Given the description of an element on the screen output the (x, y) to click on. 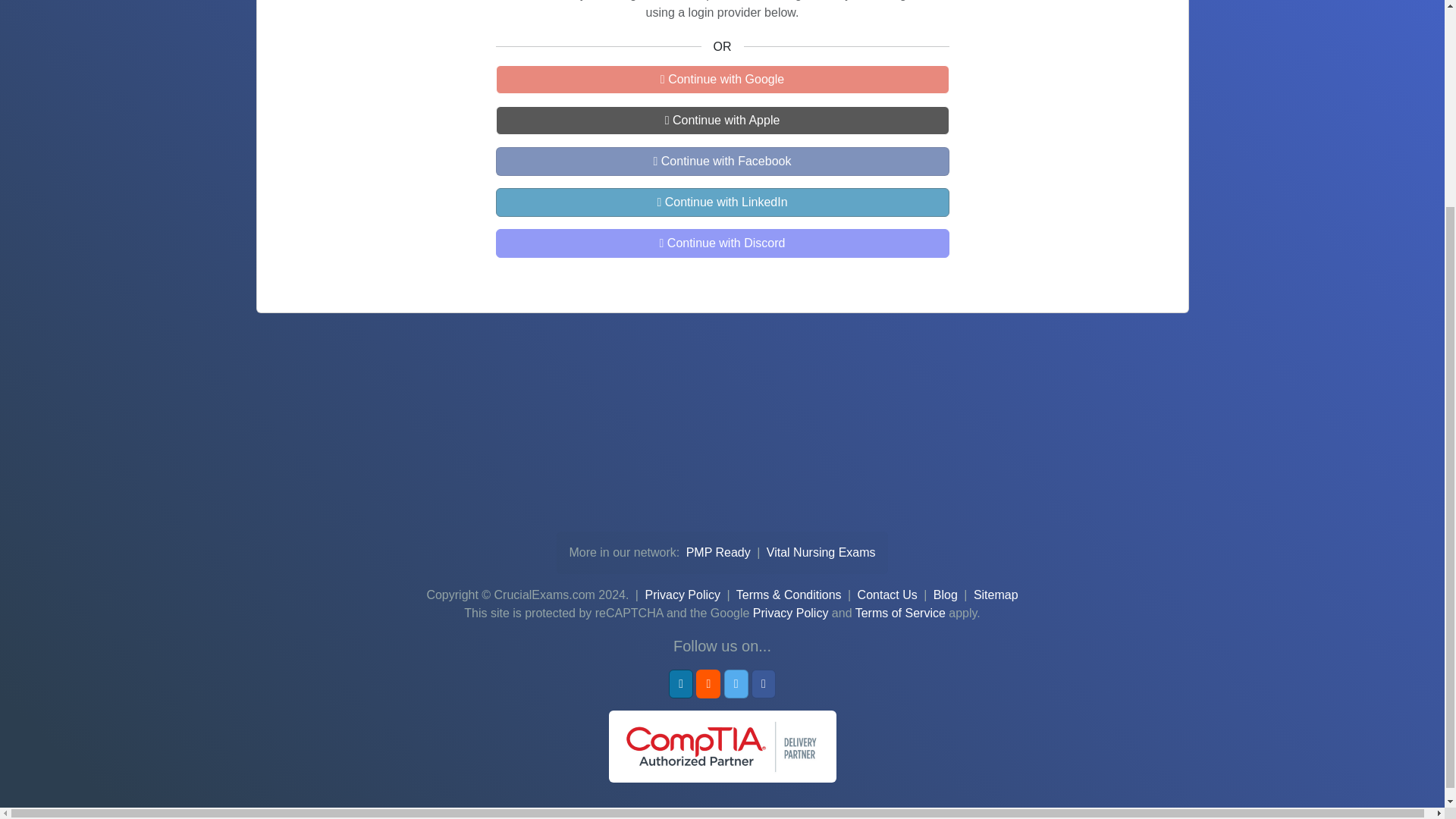
Continue with Google (722, 79)
Terms of Service (900, 612)
Log in using your LinkedIn account (722, 202)
Vital Nursing Exams (821, 552)
Continue with Discord (722, 243)
Log in using your Discord account (722, 243)
Blog (945, 594)
Continue with LinkedIn (722, 202)
Privacy Policy (790, 612)
Privacy Policy (682, 594)
Continue with Facebook (722, 161)
Continue with Apple (722, 120)
PMP Ready (719, 552)
Contact Us (887, 594)
Log in using your Facebook account (722, 161)
